Given the description of an element on the screen output the (x, y) to click on. 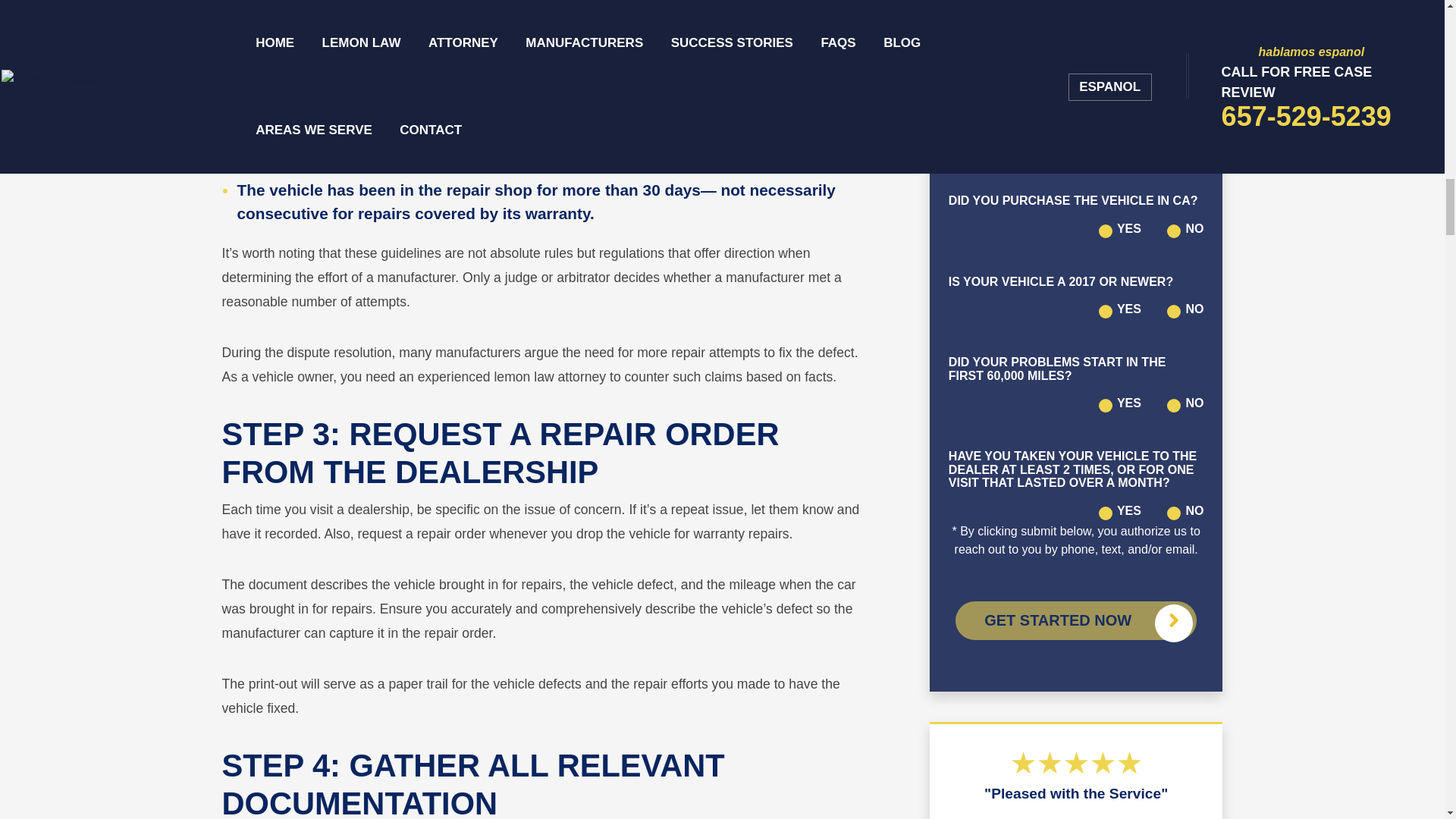
Get started now (1075, 620)
